Given the description of an element on the screen output the (x, y) to click on. 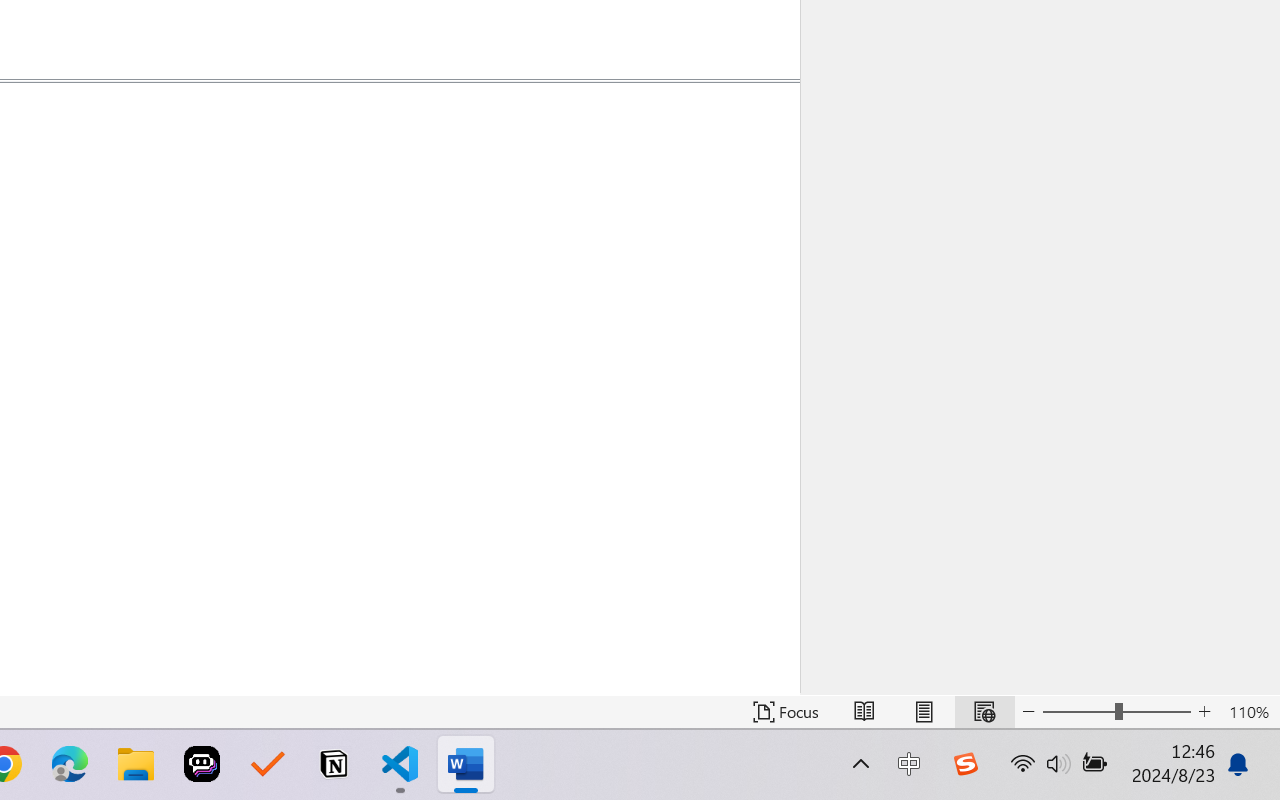
Zoom 110% (1249, 712)
